Given the description of an element on the screen output the (x, y) to click on. 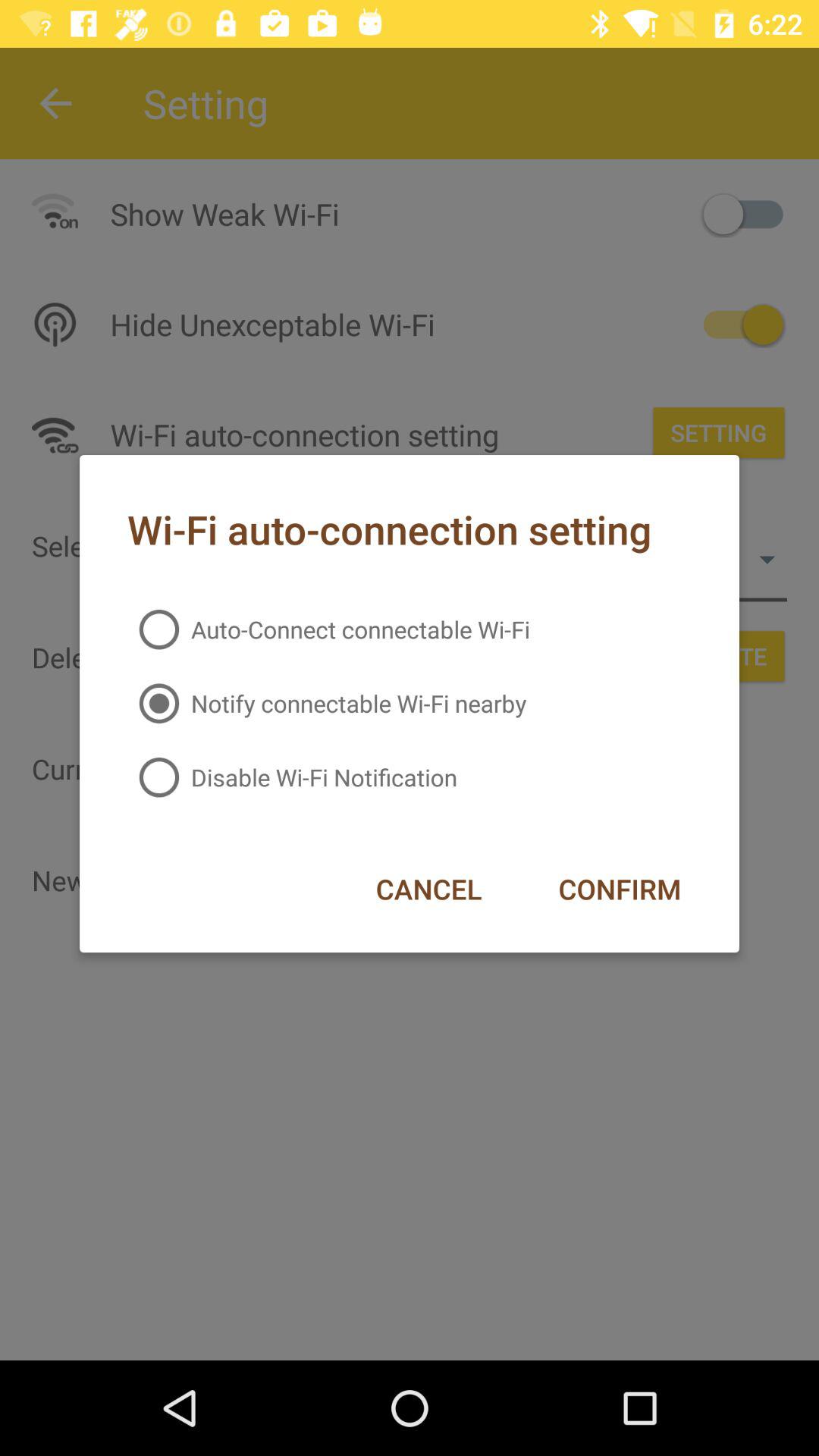
flip to the auto connect connectable item (328, 629)
